Given the description of an element on the screen output the (x, y) to click on. 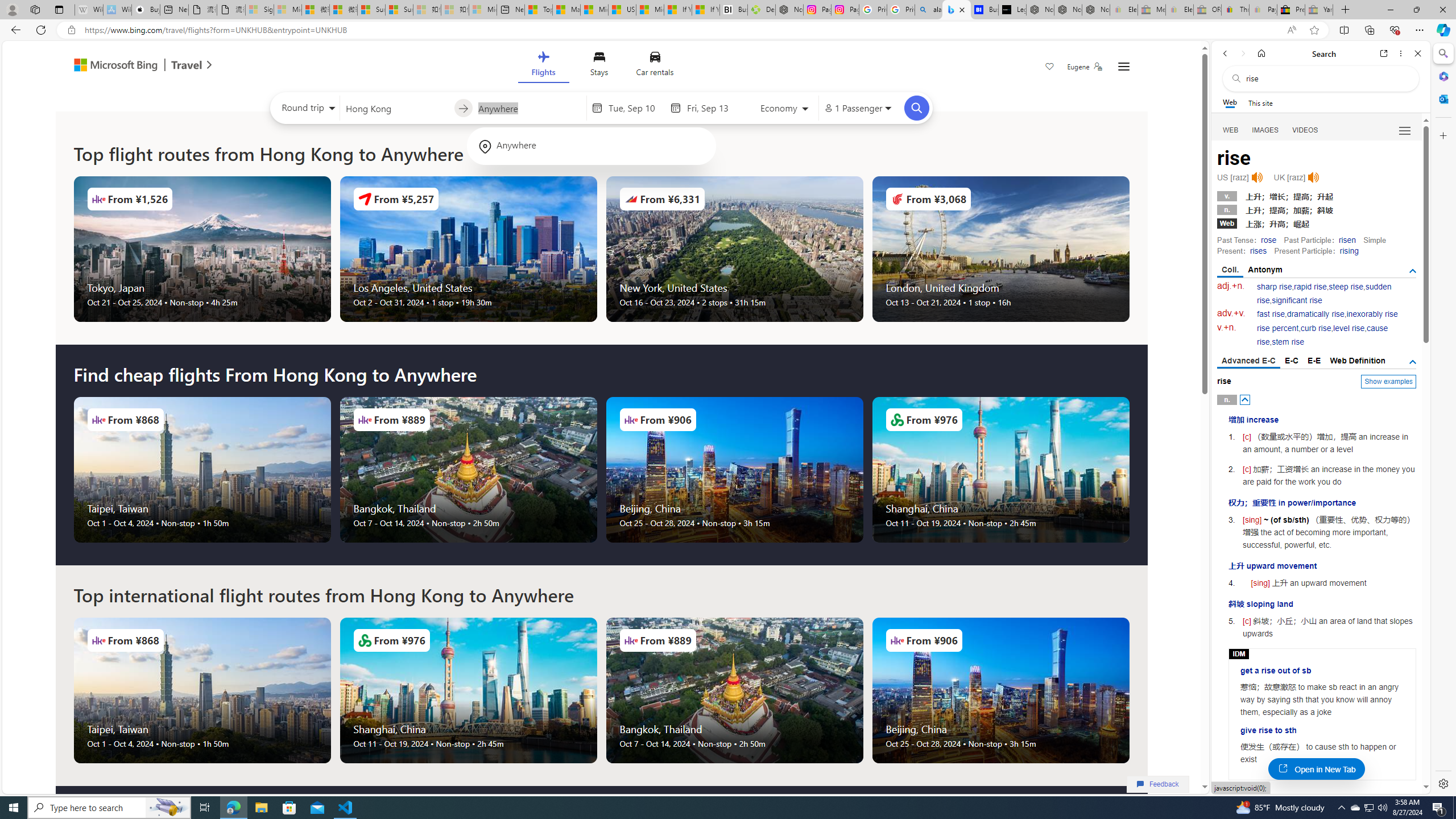
Side bar (1443, 418)
Eugene (1084, 66)
Antonym (1265, 269)
Search Filter, WEB (1231, 129)
